Given the description of an element on the screen output the (x, y) to click on. 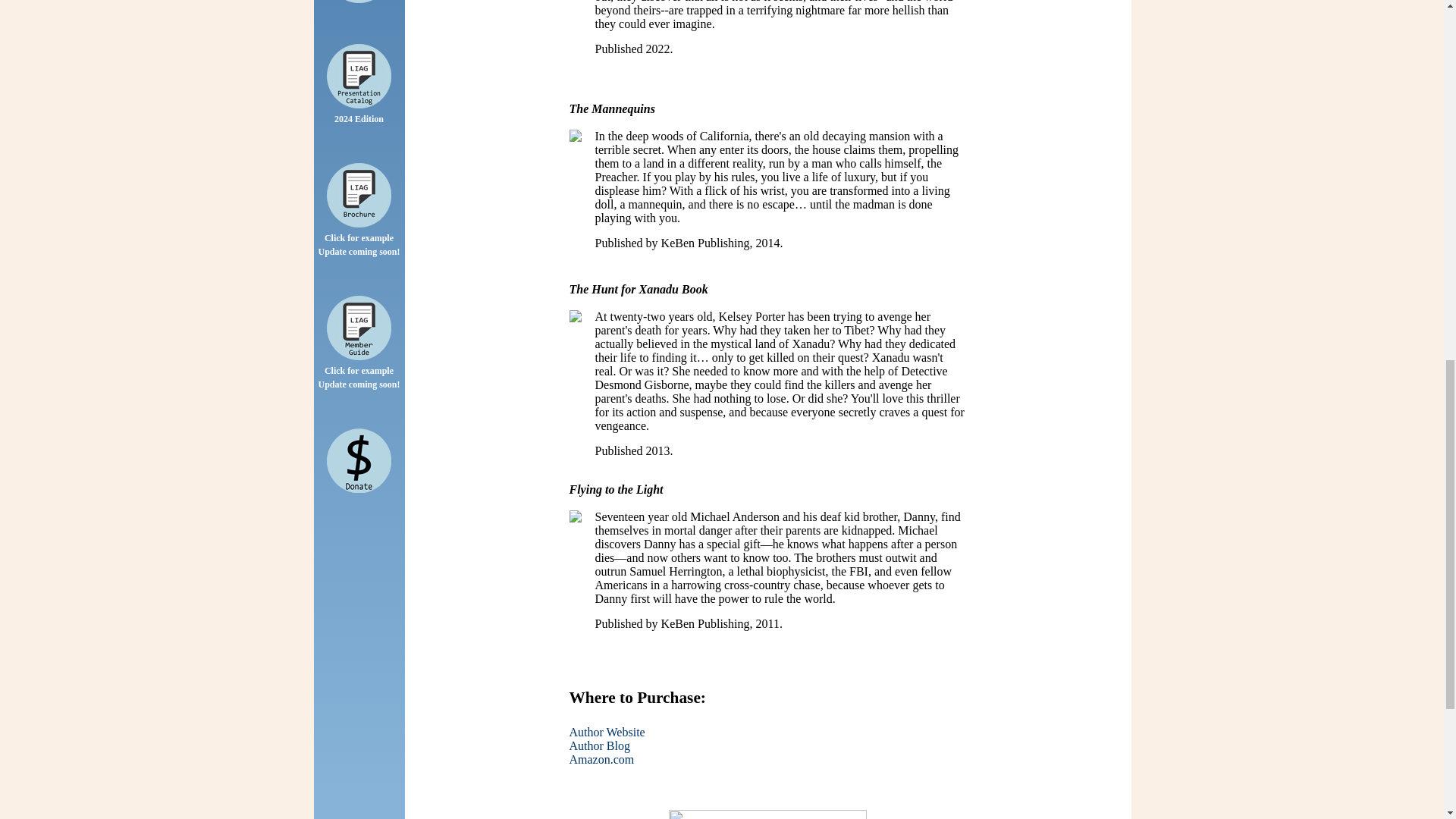
Author Website (607, 731)
Donate to LIAG (358, 460)
See our authors on the 'Writers's Dream' (358, 1)
LIAG Member Guide (358, 327)
Author Blog (598, 745)
Amazon.com (601, 758)
LIAG Brochure (358, 194)
